Given the description of an element on the screen output the (x, y) to click on. 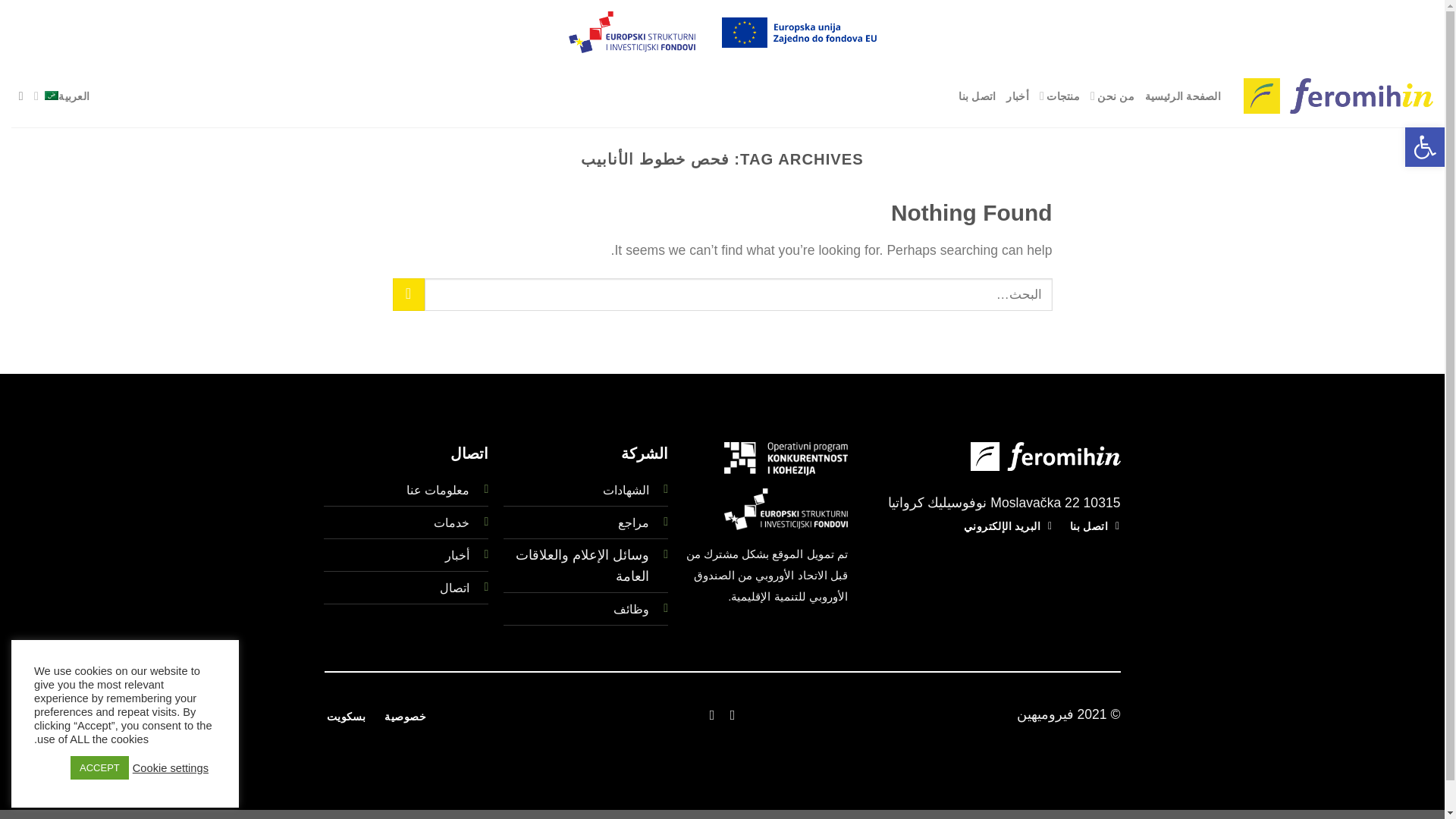
Accessibility Tools (1424, 146)
Feromihin (1337, 95)
